Given the description of an element on the screen output the (x, y) to click on. 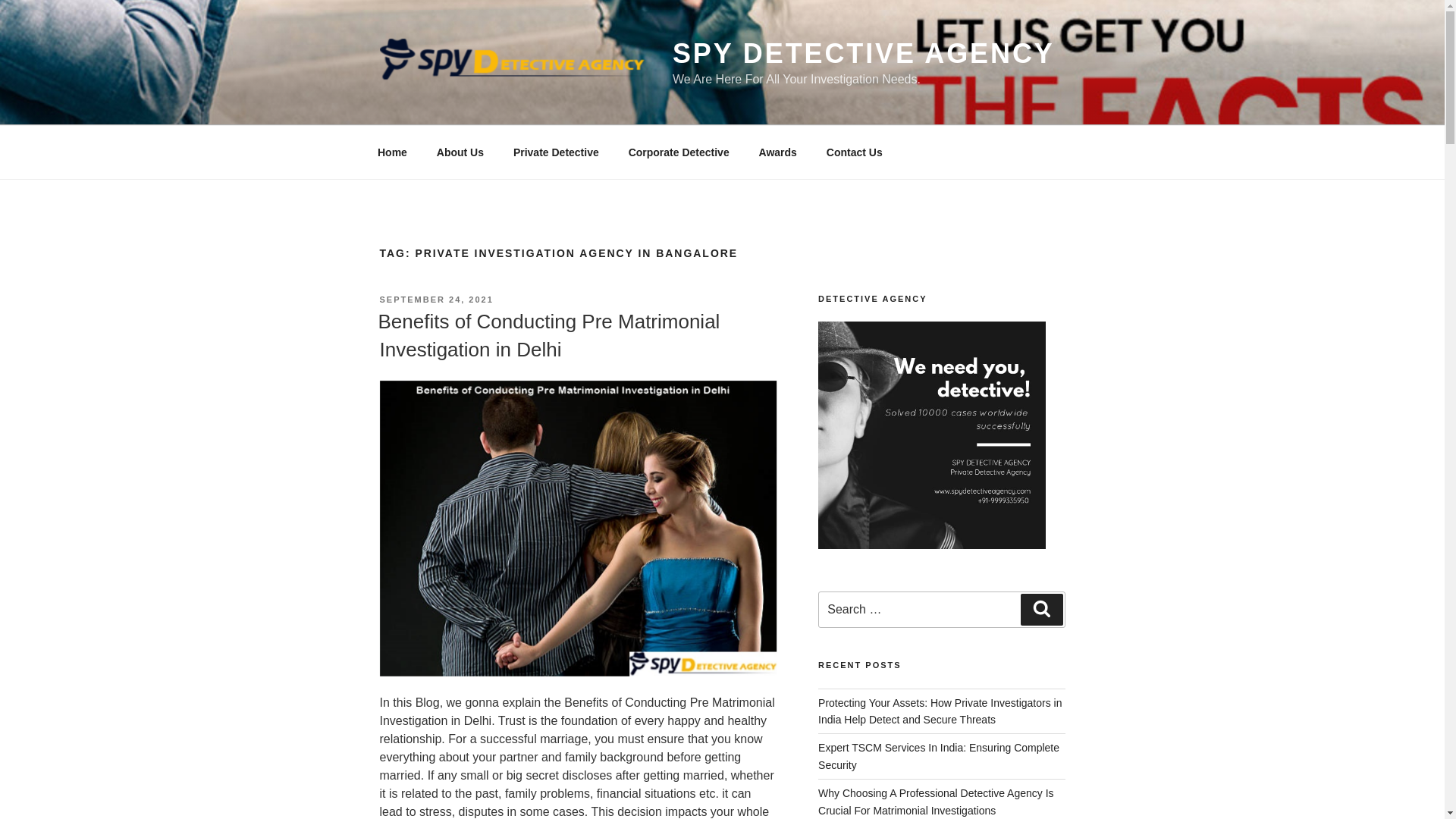
About Us (459, 151)
SPY DETECTIVE AGENCY (863, 52)
Contact Us (853, 151)
SEPTEMBER 24, 2021 (435, 298)
Private Detective (555, 151)
Corporate Detective (678, 151)
Home (392, 151)
Awards (777, 151)
